Given the description of an element on the screen output the (x, y) to click on. 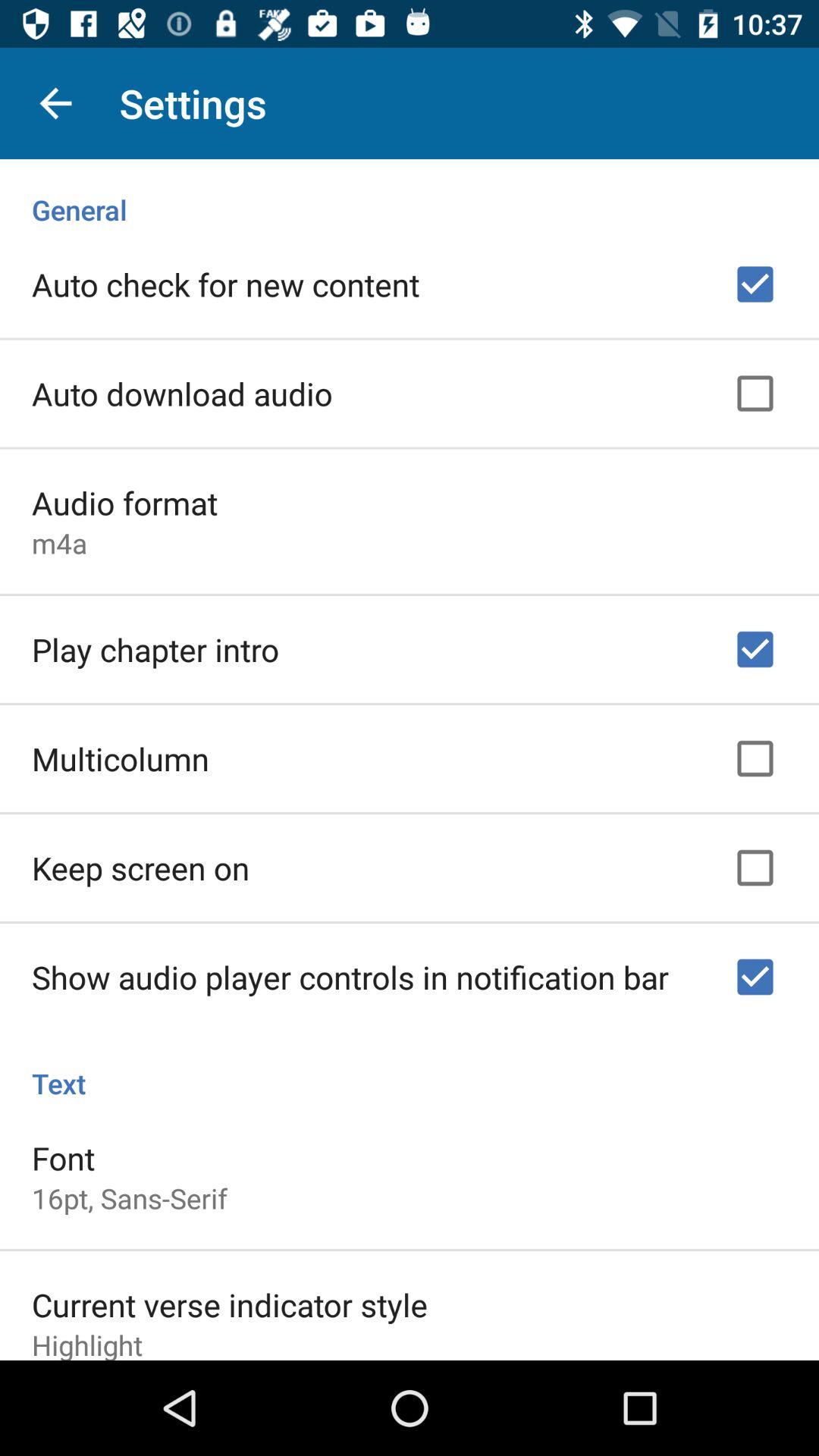
click on the fifth check box (755, 867)
click on the button which is next to the multicolumn (755, 758)
